Given the description of an element on the screen output the (x, y) to click on. 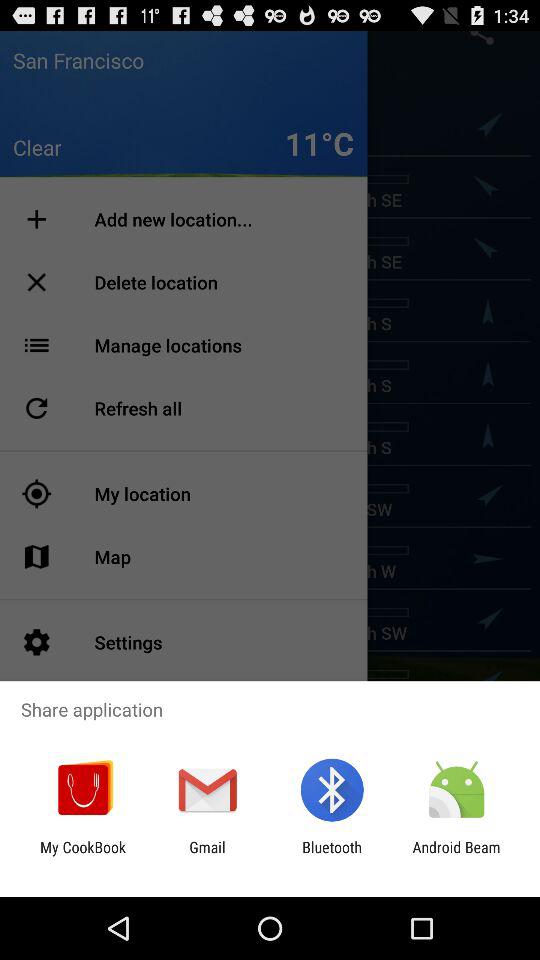
tap the my cookbook (83, 856)
